Given the description of an element on the screen output the (x, y) to click on. 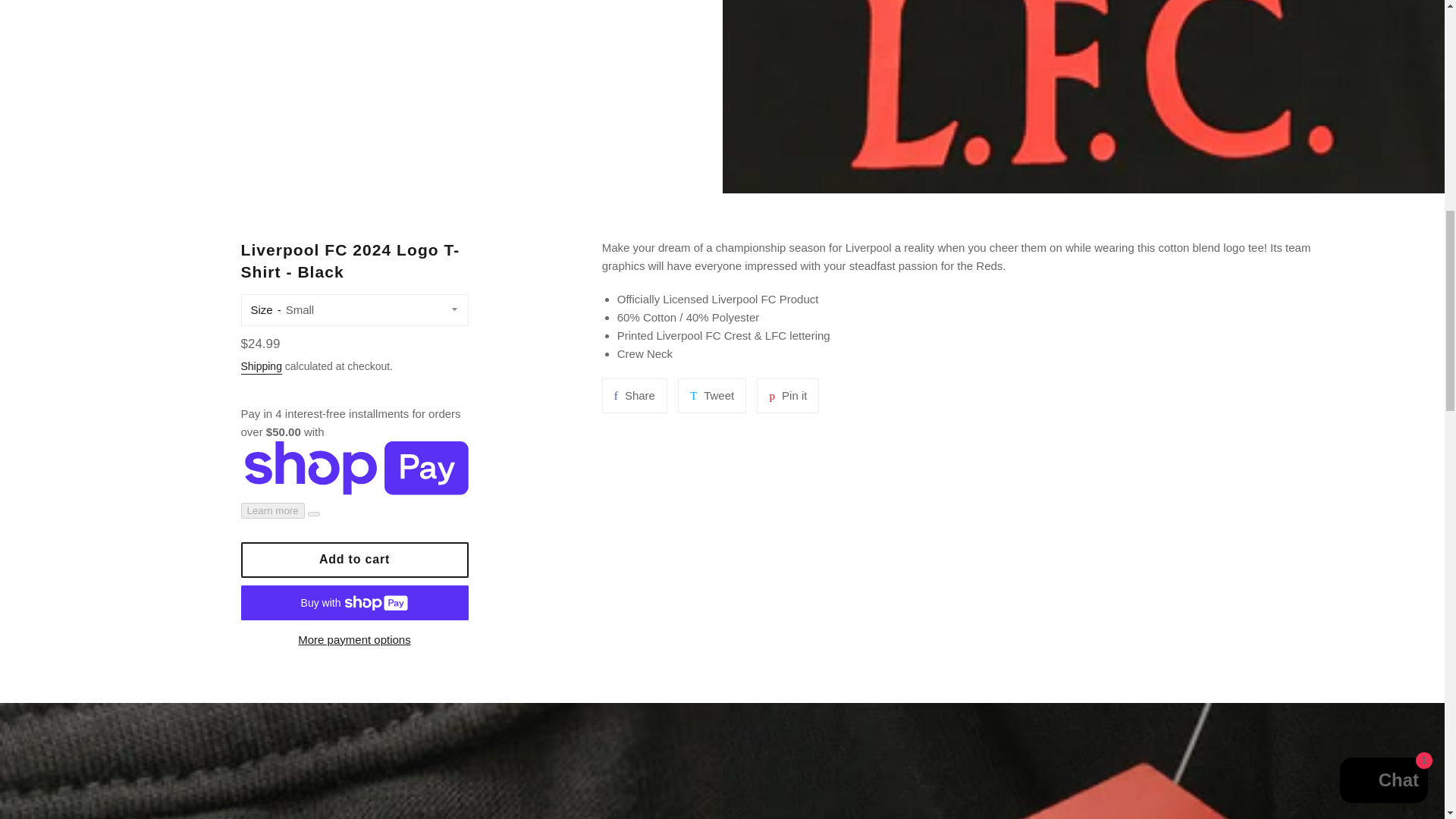
Tweet on Twitter (711, 395)
Share on Facebook (634, 395)
Pin on Pinterest (787, 395)
